Given the description of an element on the screen output the (x, y) to click on. 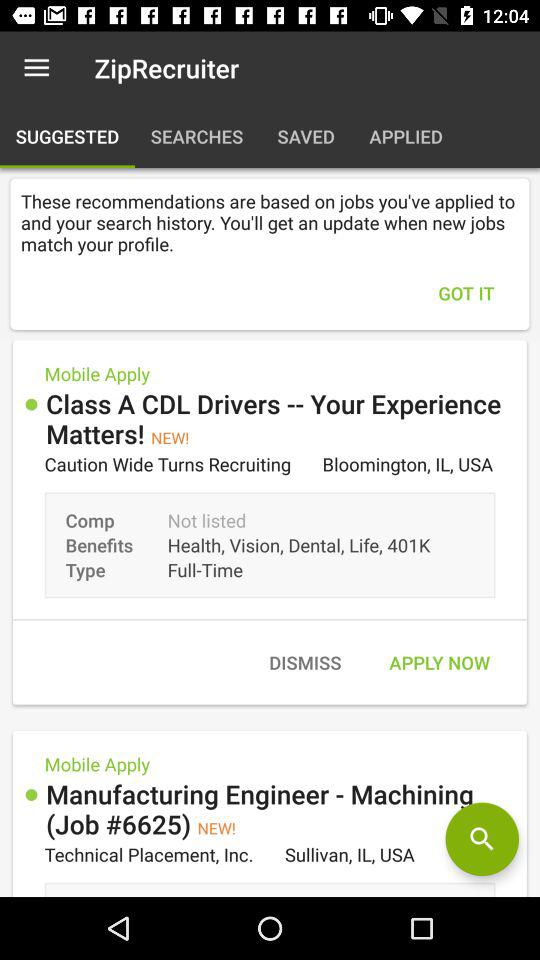
search (482, 839)
